Given the description of an element on the screen output the (x, y) to click on. 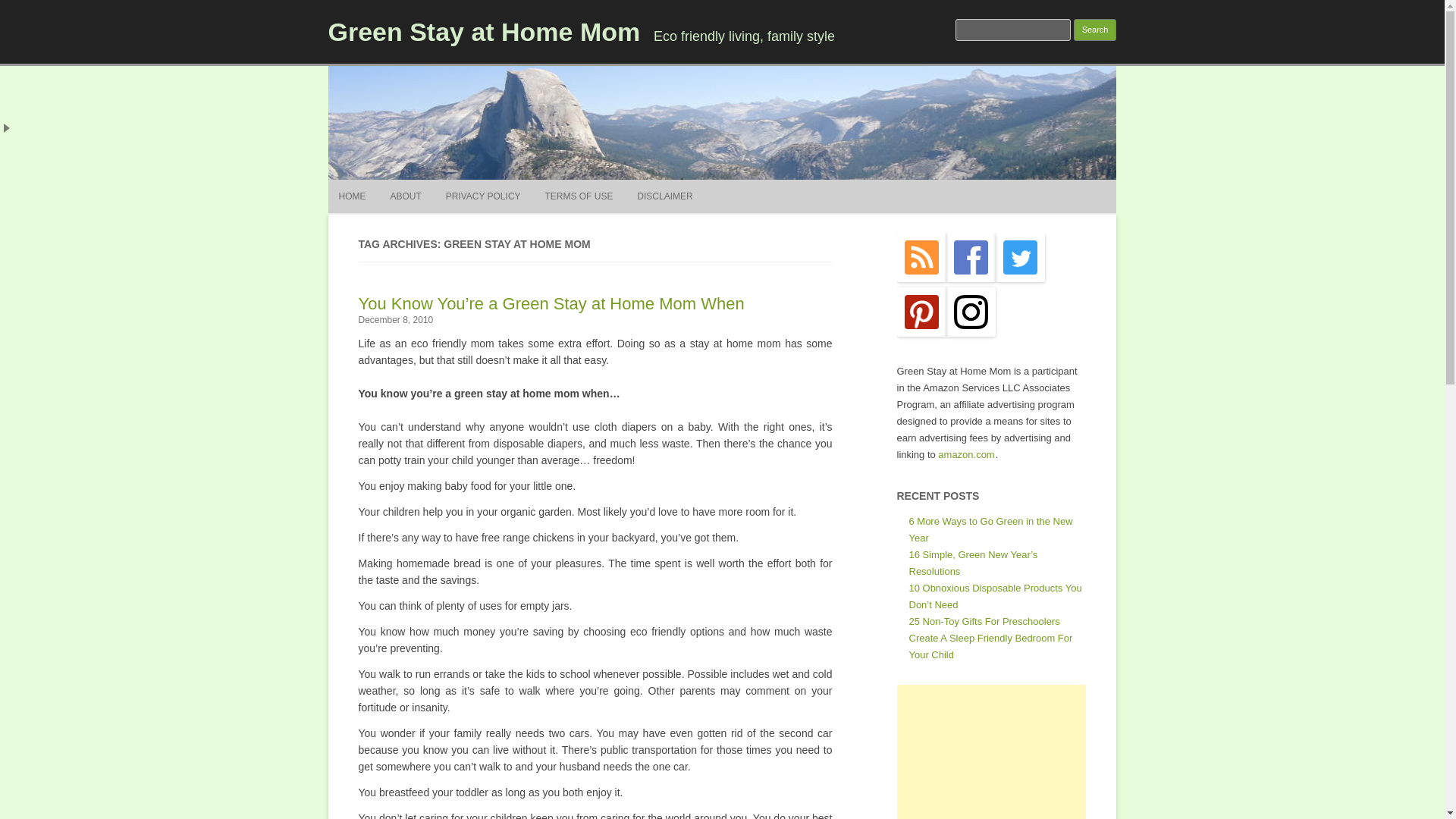
25 Non-Toy Gifts For Preschoolers (983, 621)
Advertisement (991, 751)
Green Stay at Home Mom (483, 31)
Skip to content (757, 184)
9:32 am (395, 319)
TERMS OF USE (578, 195)
DISCLAIMER (665, 195)
ABOUT (405, 195)
Skip to content (757, 184)
December 8, 2010 (395, 319)
